Given the description of an element on the screen output the (x, y) to click on. 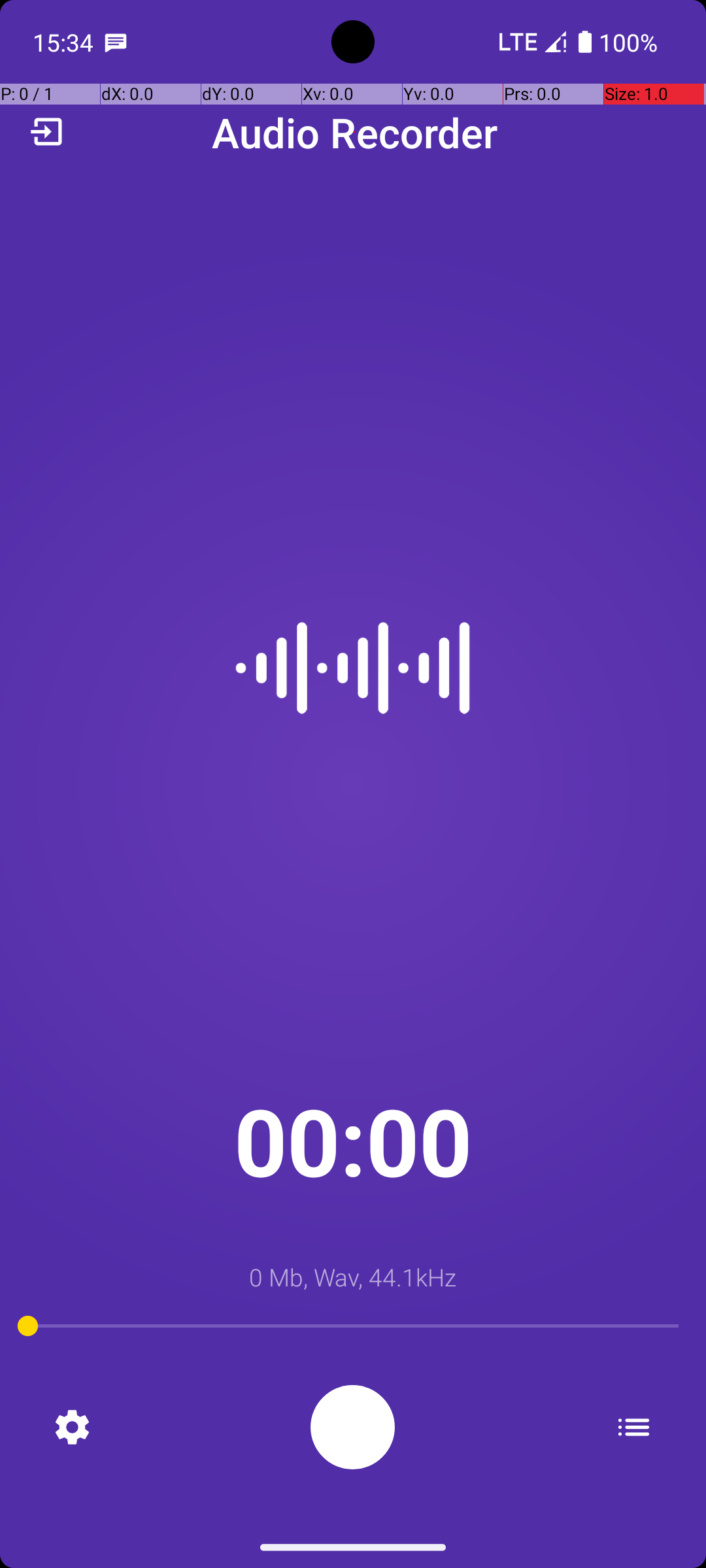
00:00 Element type: android.widget.TextView (352, 1140)
0 Mb, Wav, 44.1kHz Element type: android.widget.TextView (352, 1276)
Recording: %s Element type: android.widget.ImageButton (352, 1427)
